Given the description of an element on the screen output the (x, y) to click on. 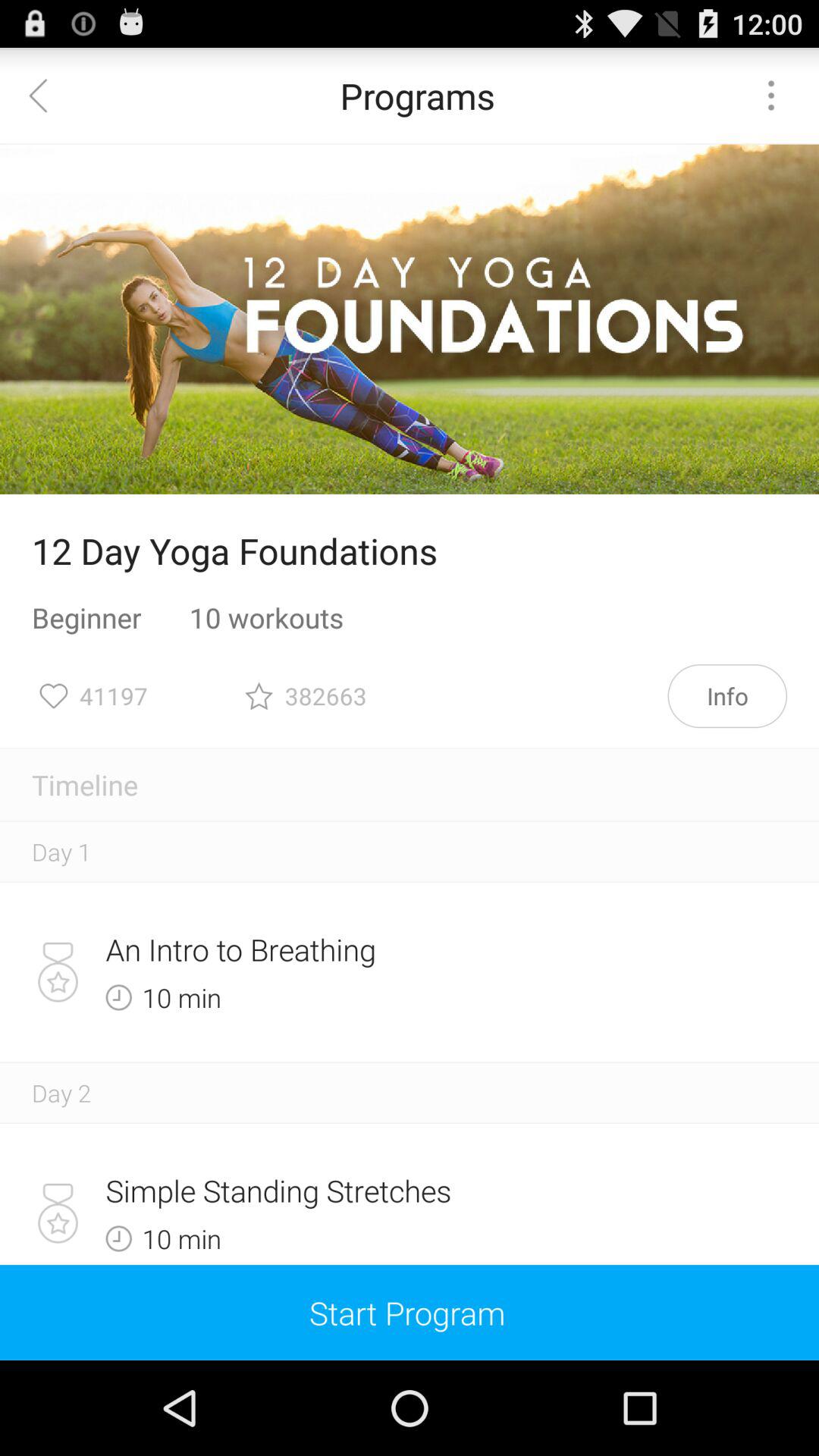
turn on the icon next to the 382663 (727, 696)
